Given the description of an element on the screen output the (x, y) to click on. 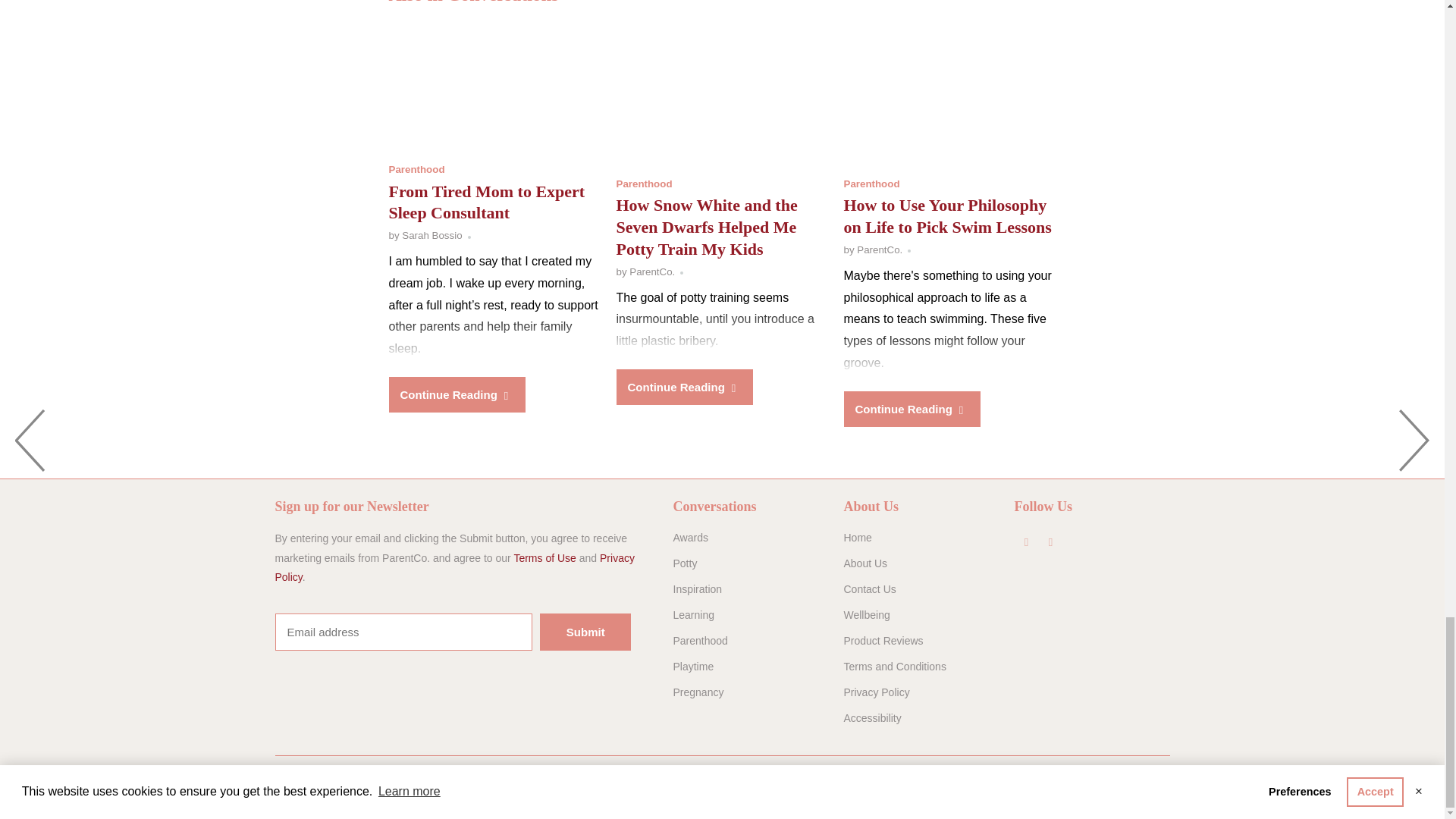
How to Use Your Philosophy on Life to Pick Swim Lessons (949, 95)
Conversations tagged Parenthood (416, 169)
Conversations tagged Parenthood (871, 183)
Submit (585, 631)
From Tired Mom to Expert Sleep Consultant (486, 201)
From Tired Mom to Expert Sleep Consultant (493, 88)
Conversations tagged Parenthood (643, 183)
